Given the description of an element on the screen output the (x, y) to click on. 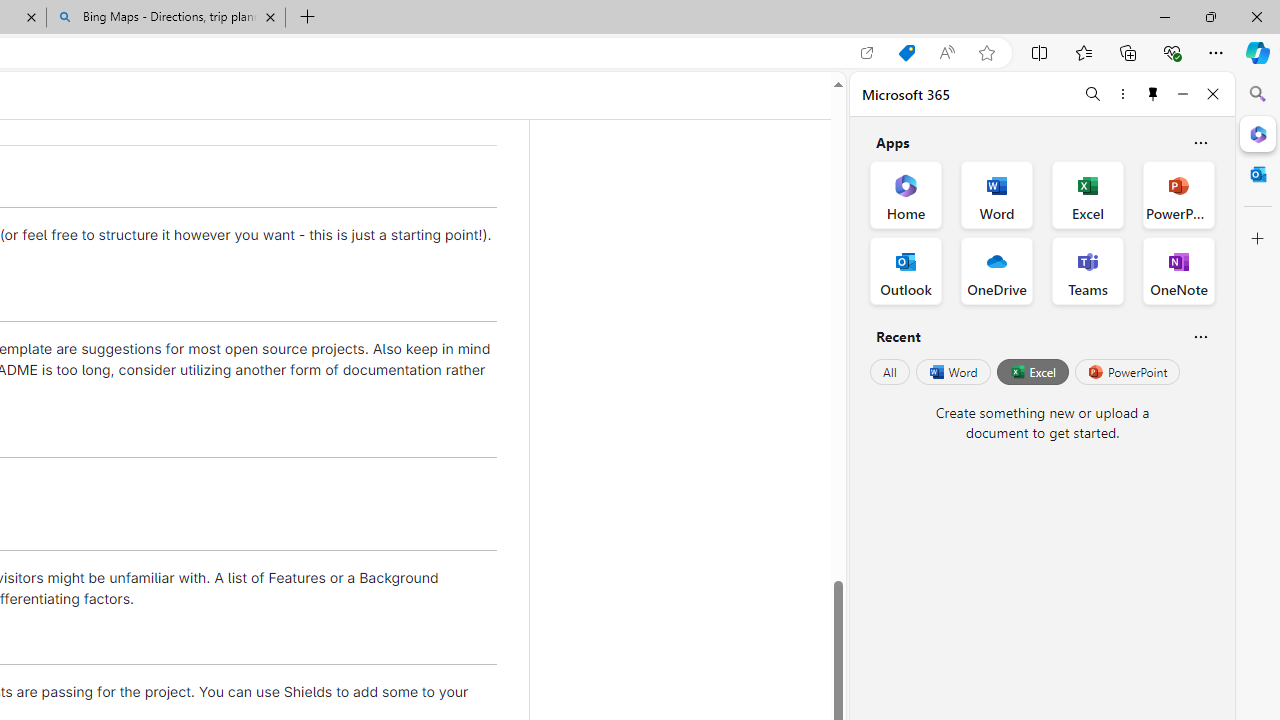
PowerPoint Office App (1178, 194)
Excel (1031, 372)
Excel Office App (1087, 194)
All (890, 372)
